Given the description of an element on the screen output the (x, y) to click on. 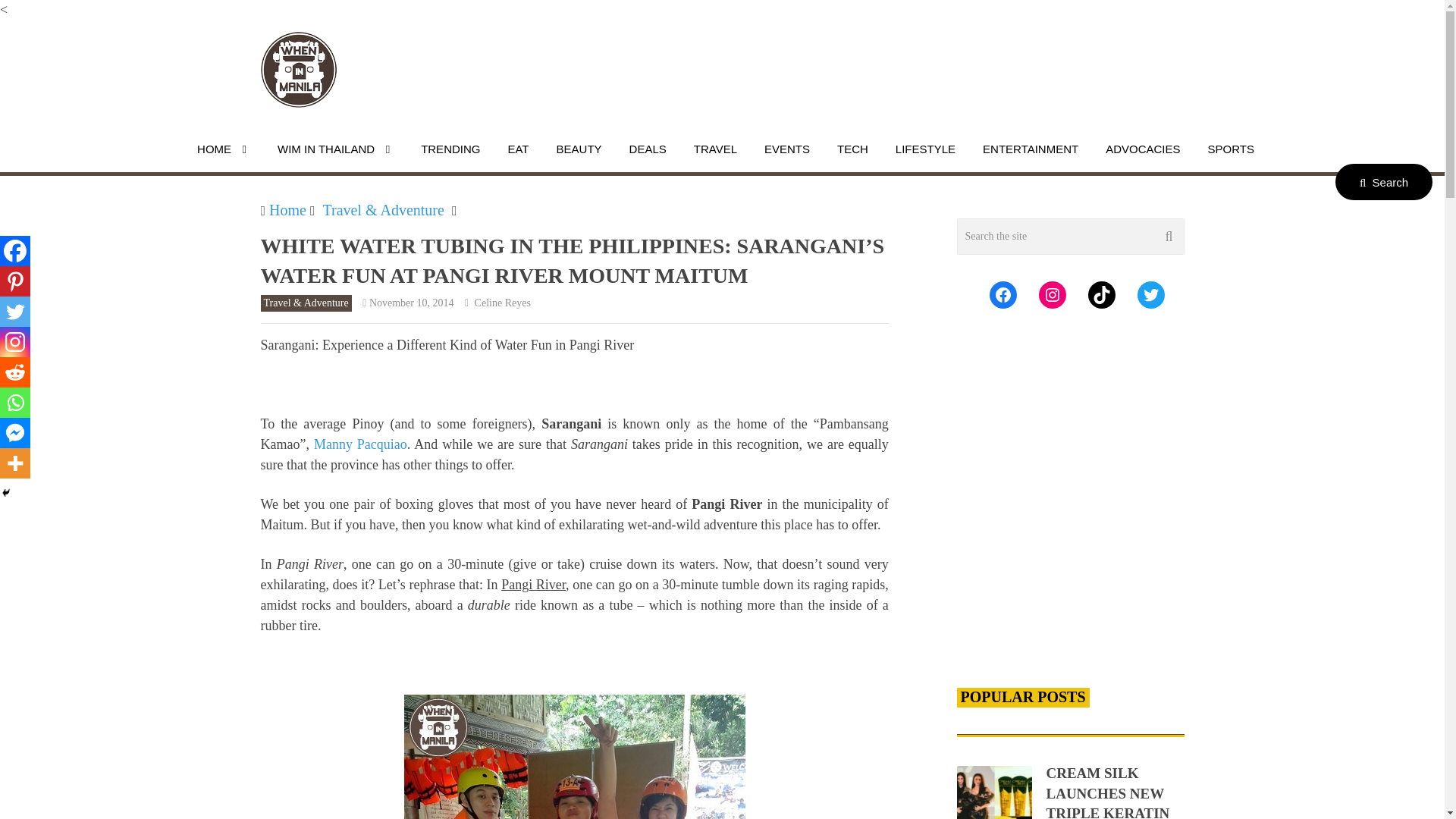
Pinterest (15, 281)
More (15, 462)
Hide (5, 492)
Twitter (15, 311)
Reddit (15, 372)
LIFESTYLE (924, 148)
EAT (518, 148)
BEAUTY (578, 148)
WIM IN THAILAND (335, 148)
ENTERTAINMENT (1030, 148)
